Given the description of an element on the screen output the (x, y) to click on. 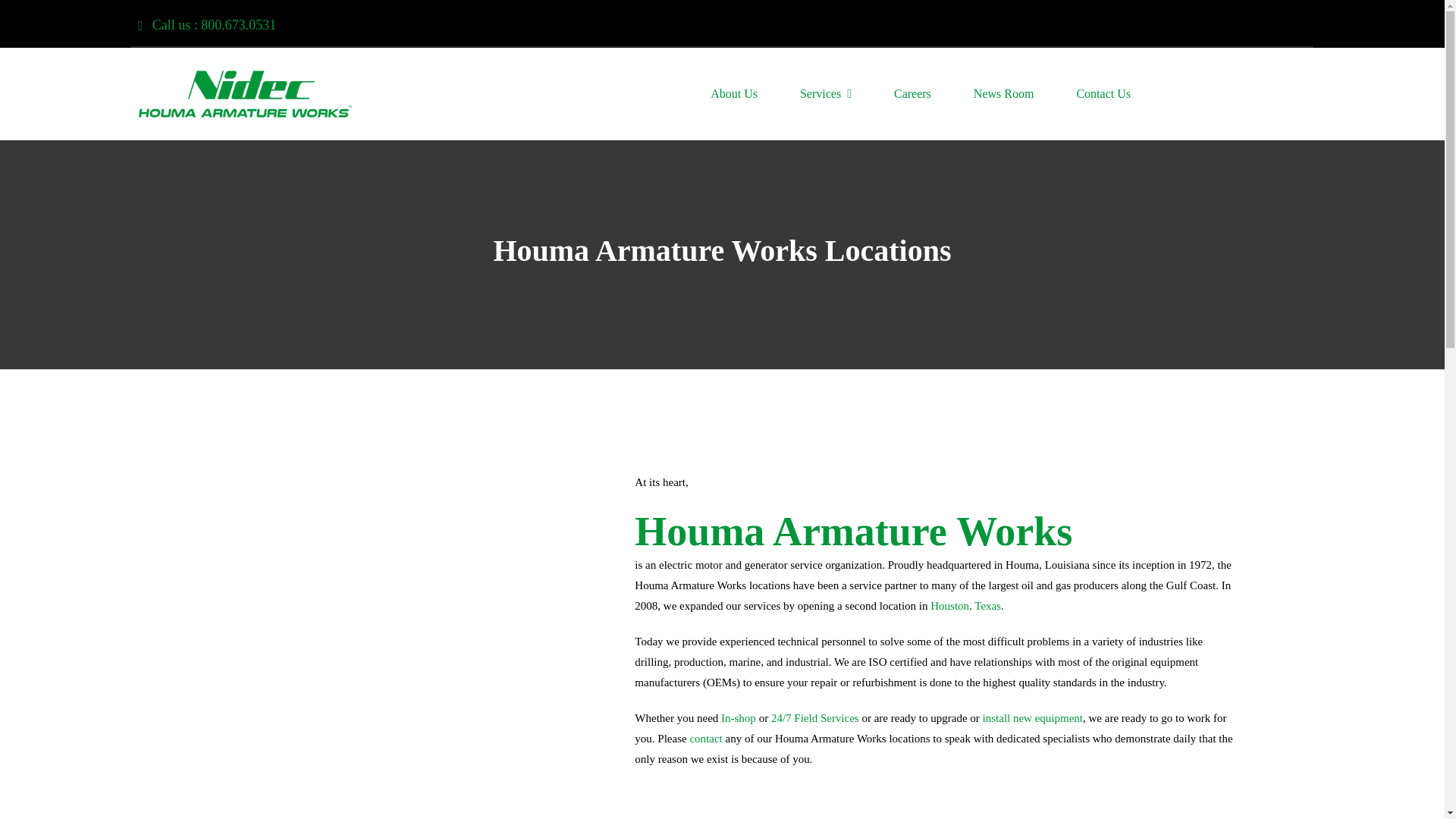
Call us : 800.673.0531 (207, 24)
Careers (912, 94)
Services (826, 94)
Contact Us (1103, 94)
Houma Armature Works (852, 531)
In-shop (737, 717)
News Room (1003, 94)
About Us (733, 94)
install new equipment (1032, 717)
Houston, Texas (965, 605)
